Given the description of an element on the screen output the (x, y) to click on. 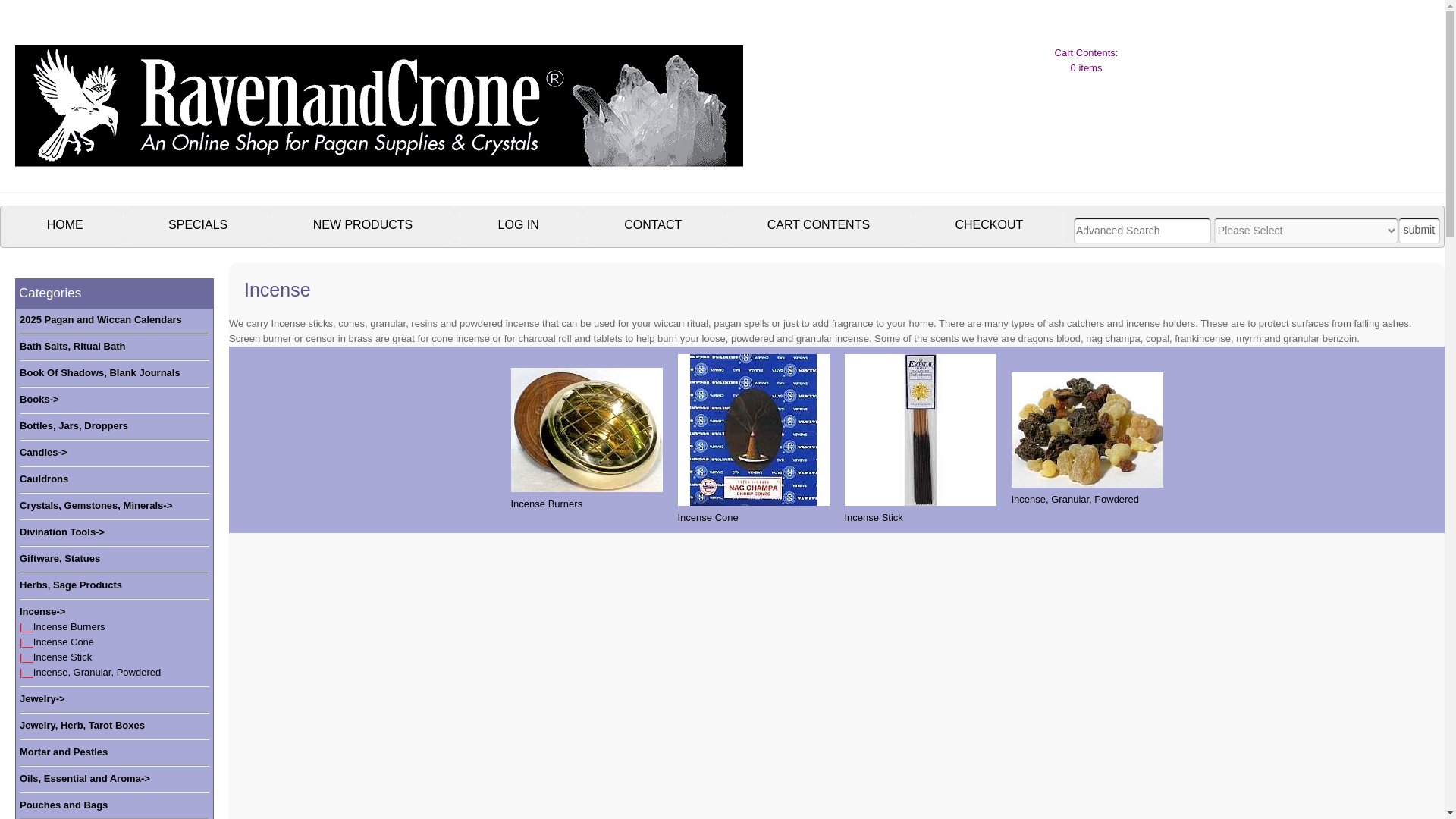
Herbs, Sage Products (71, 585)
Book Of Shadows, Blank Journals (100, 372)
Cauldrons (44, 478)
Pouches and Bags (63, 805)
 Incense Cone  (753, 429)
 Incense Stick  (919, 429)
Bottles, Jars, Droppers (74, 426)
Incense, Granular, Powdered (1087, 439)
Incense Burners (586, 439)
Incense, Granular, Powdered (96, 672)
